Given the description of an element on the screen output the (x, y) to click on. 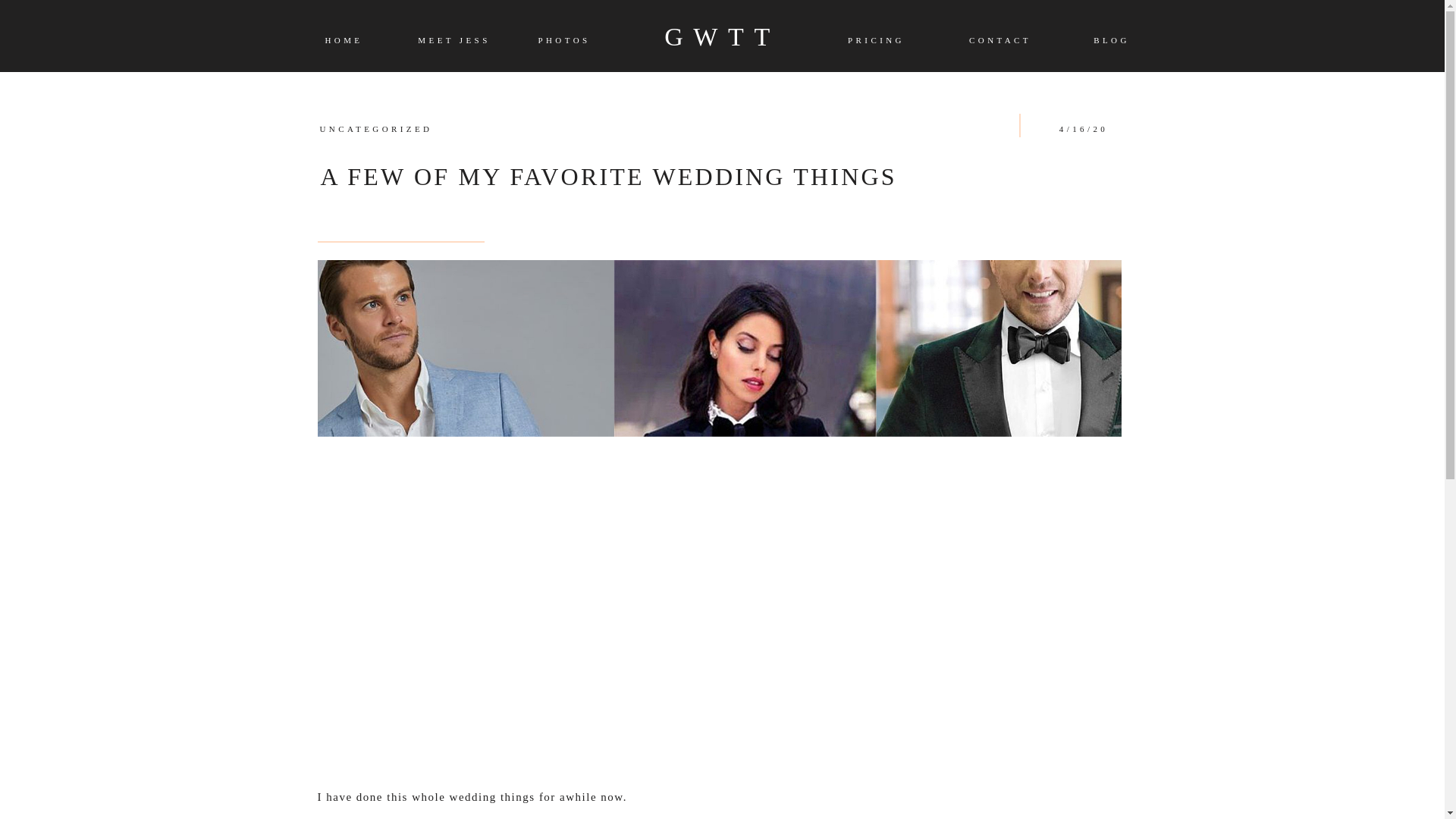
CONTACT (999, 40)
UNCATEGORIZED (376, 128)
MEET JESS (454, 38)
PHOTOS (563, 40)
BLOG (1112, 40)
GWTT (722, 35)
PRICING (875, 40)
HOME (344, 40)
